Given the description of an element on the screen output the (x, y) to click on. 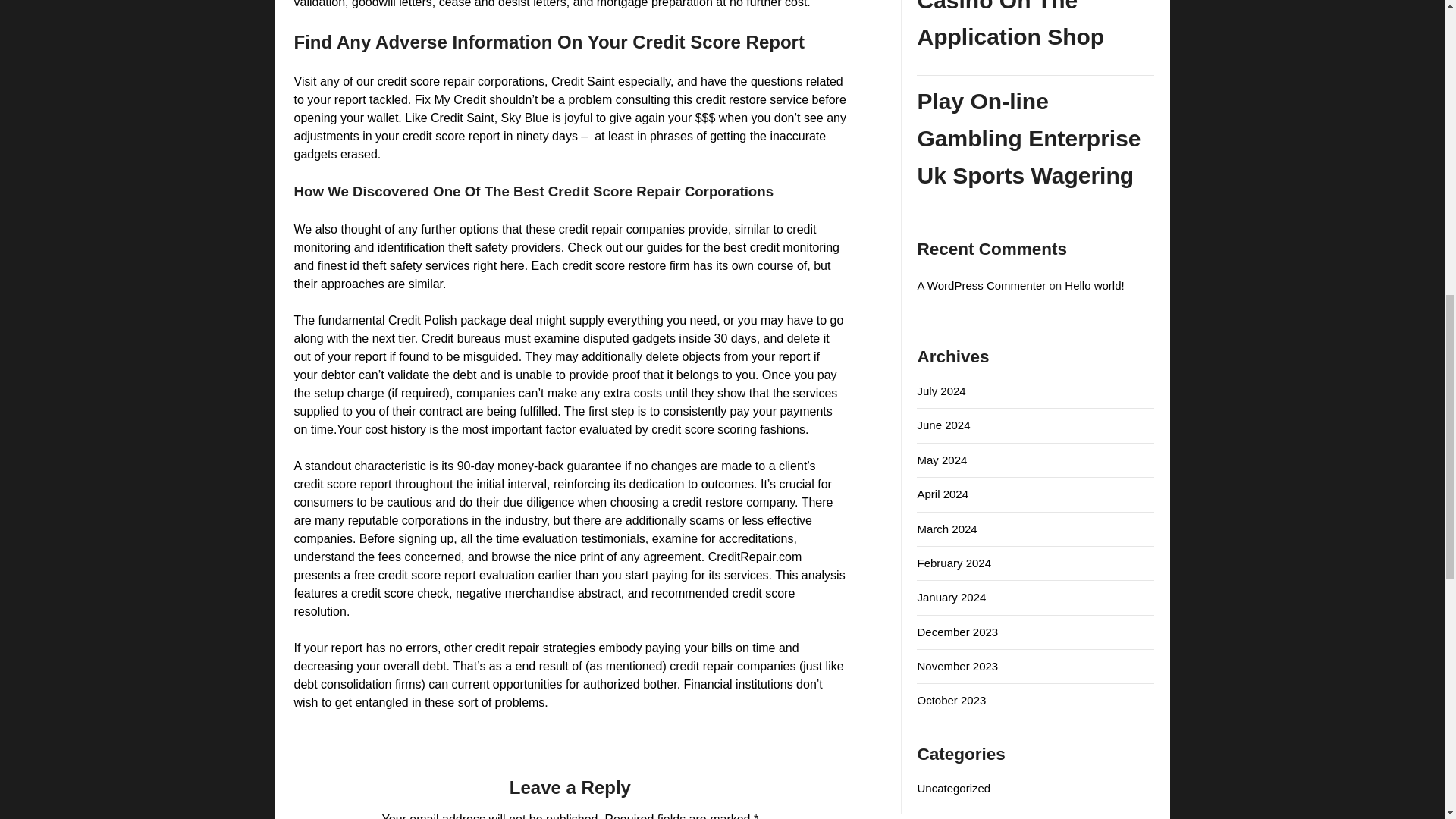
July 2024 (941, 390)
Uncategorized (953, 788)
February 2024 (954, 562)
April 2024 (942, 493)
May 2024 (941, 459)
A WordPress Commenter (981, 285)
December 2023 (957, 631)
November 2023 (957, 666)
January 2024 (951, 596)
Play On-line Gambling Enterprise Uk Sports Wagering (1035, 138)
October 2023 (951, 699)
Fix My Credit (450, 99)
June 2024 (943, 424)
March 2024 (946, 528)
Hello world! (1094, 285)
